Given the description of an element on the screen output the (x, y) to click on. 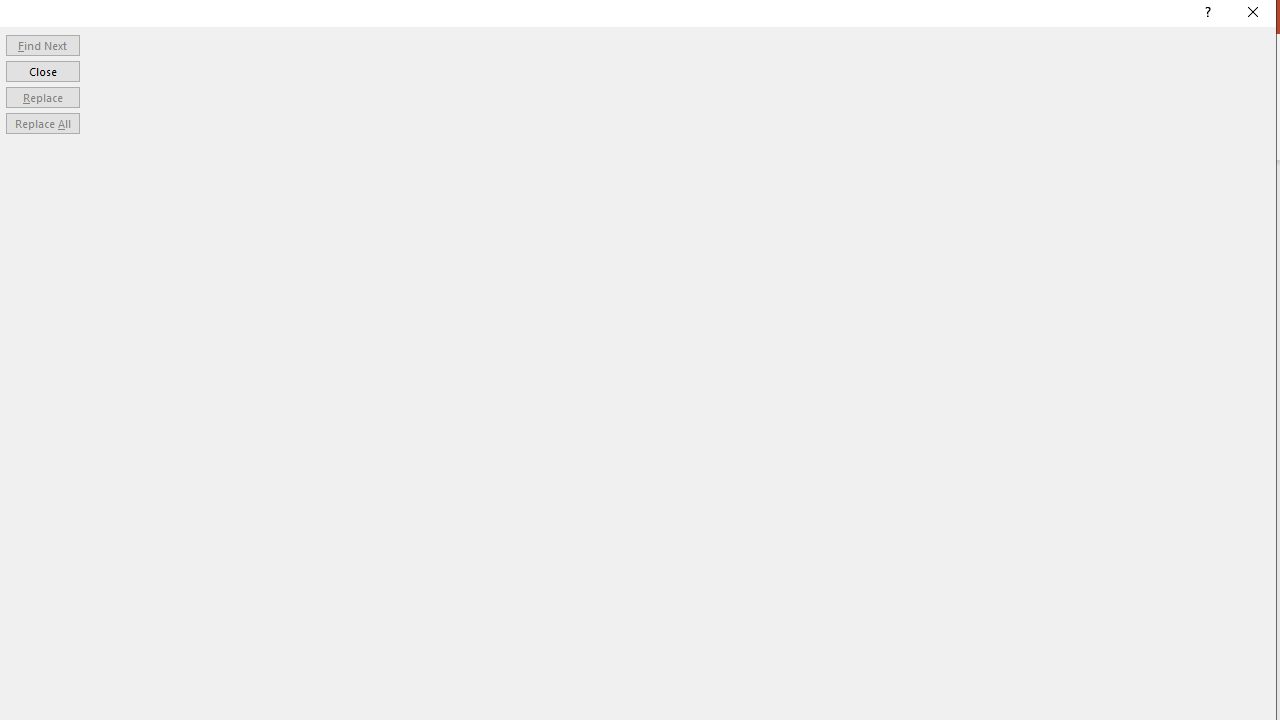
Find Next (42, 44)
Replace All (42, 123)
Replace (42, 96)
